Given the description of an element on the screen output the (x, y) to click on. 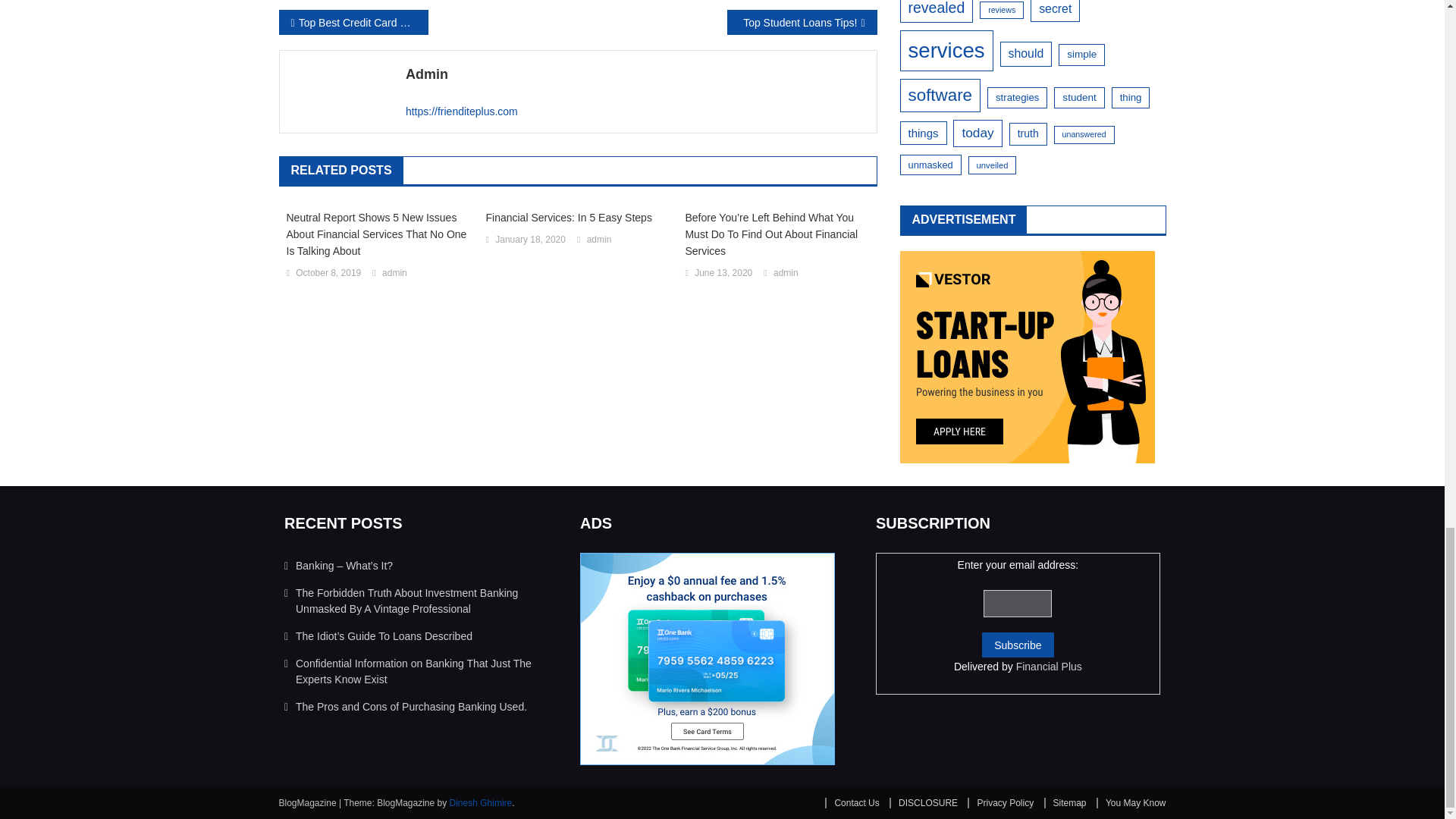
Financial Services: In 5 Easy Steps (576, 217)
Top Best Credit Card Guide! (353, 22)
Admin (635, 74)
Subscribe (1016, 644)
Top Student Loans Tips! (801, 22)
October 8, 2019 (328, 273)
admin (598, 239)
admin (394, 273)
January 18, 2020 (530, 239)
